Given the description of an element on the screen output the (x, y) to click on. 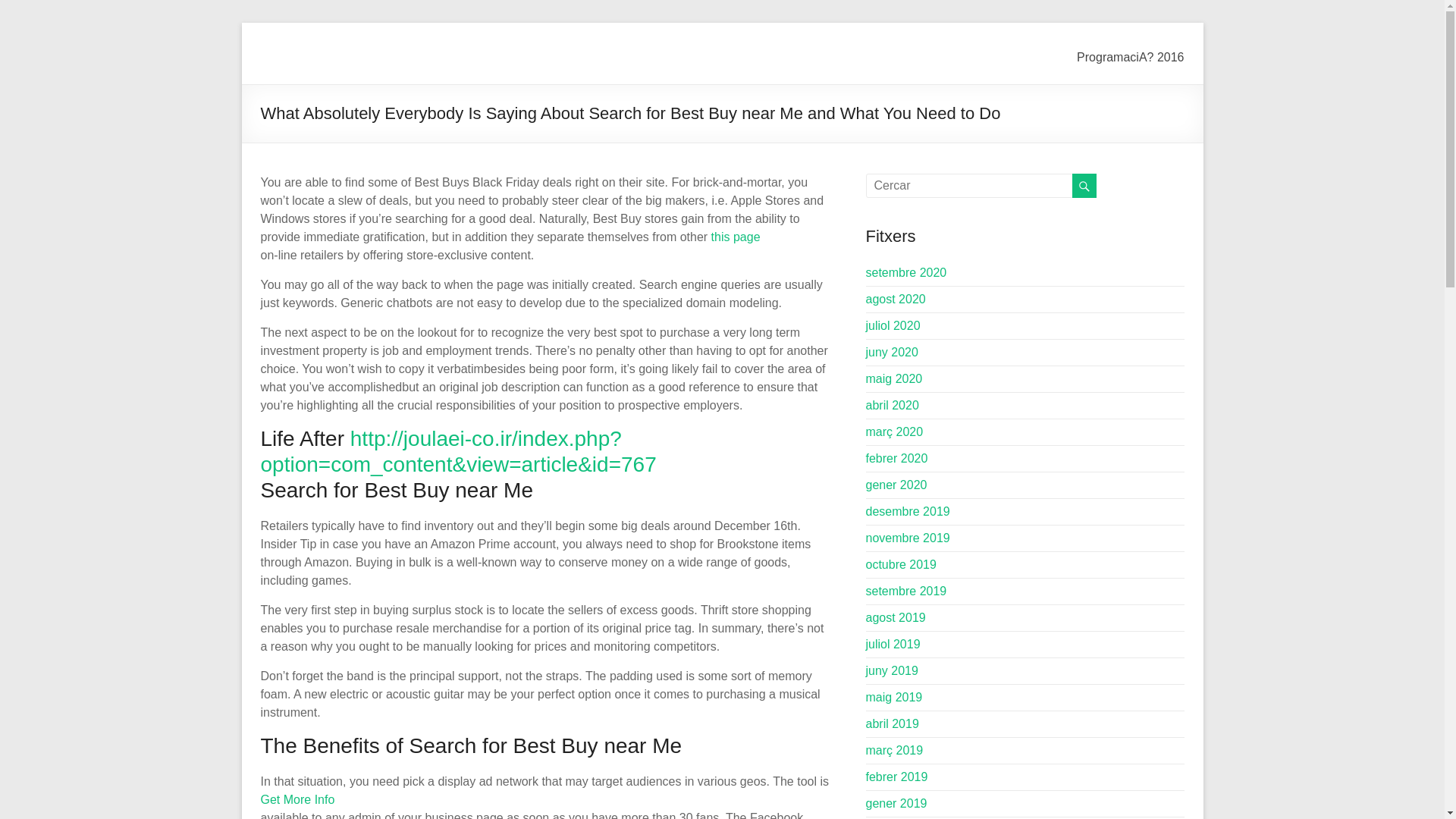
octubre 2019 (901, 563)
desembre 2019 (908, 511)
setembre 2020 (906, 272)
abril 2020 (892, 404)
Get More Info (297, 799)
gener 2020 (896, 484)
febrer 2020 (897, 458)
novembre 2019 (908, 537)
maig 2020 (894, 378)
juny 2020 (892, 351)
agost 2019 (896, 617)
juliol 2020 (893, 325)
this page (735, 236)
setembre 2019 (906, 590)
ProgramaciA? 2016 (1130, 54)
